Given the description of an element on the screen output the (x, y) to click on. 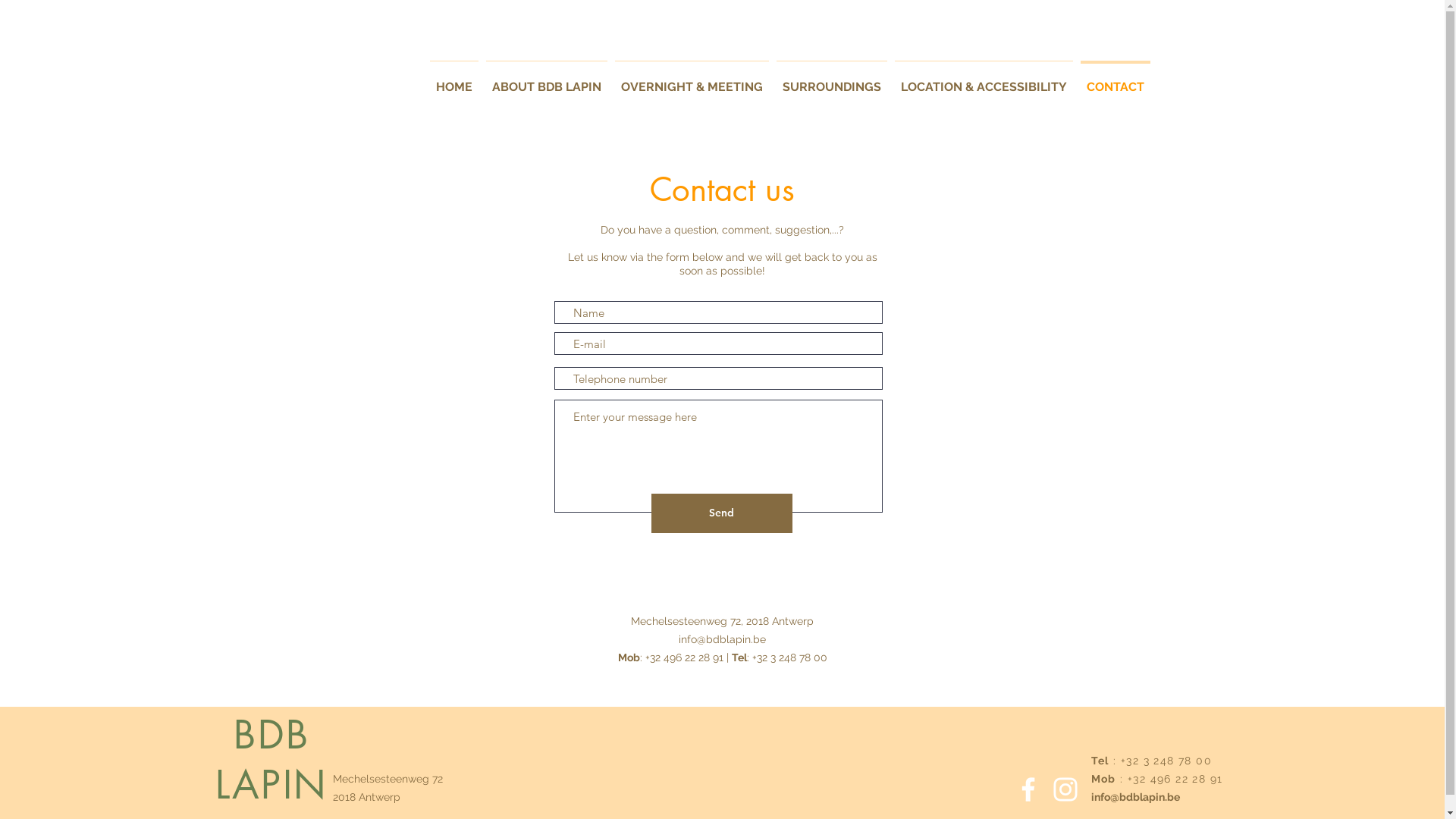
OVERNIGHT & MEETING Element type: text (691, 80)
HOME Element type: text (454, 80)
Send Element type: text (720, 513)
BDB LAPIN Element type: text (271, 759)
ABOUT BDB LAPIN Element type: text (546, 80)
info@bdblapin.be Element type: text (1134, 796)
CONTACT Element type: text (1115, 80)
SURROUNDINGS Element type: text (830, 80)
LOCATION & ACCESSIBILITY Element type: text (983, 80)
